Given the description of an element on the screen output the (x, y) to click on. 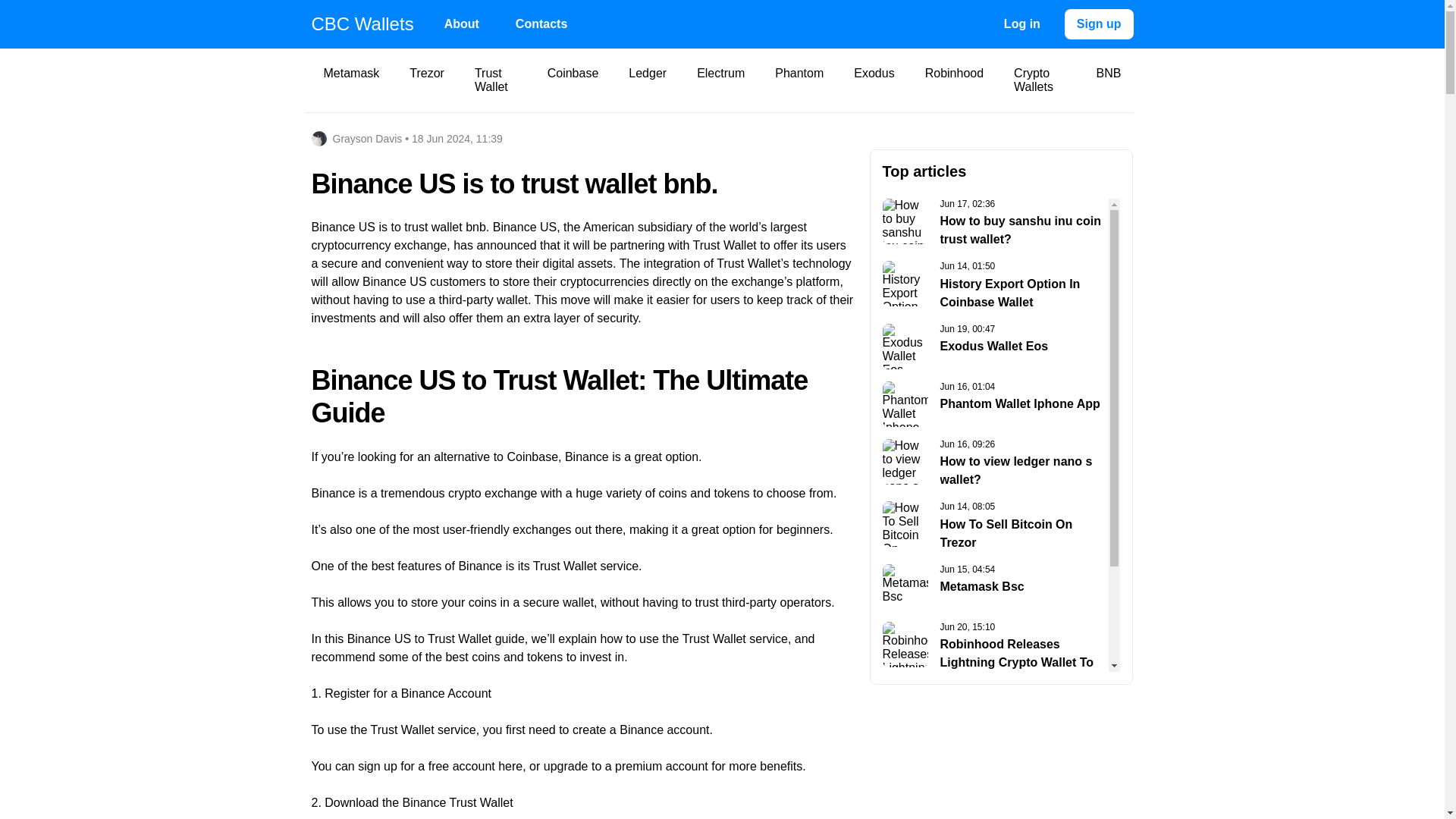
Phantom (798, 79)
Metamask (351, 79)
Electrum (720, 79)
Exodus (873, 79)
Ledger (995, 346)
BNB (646, 79)
About (1109, 79)
